Given the description of an element on the screen output the (x, y) to click on. 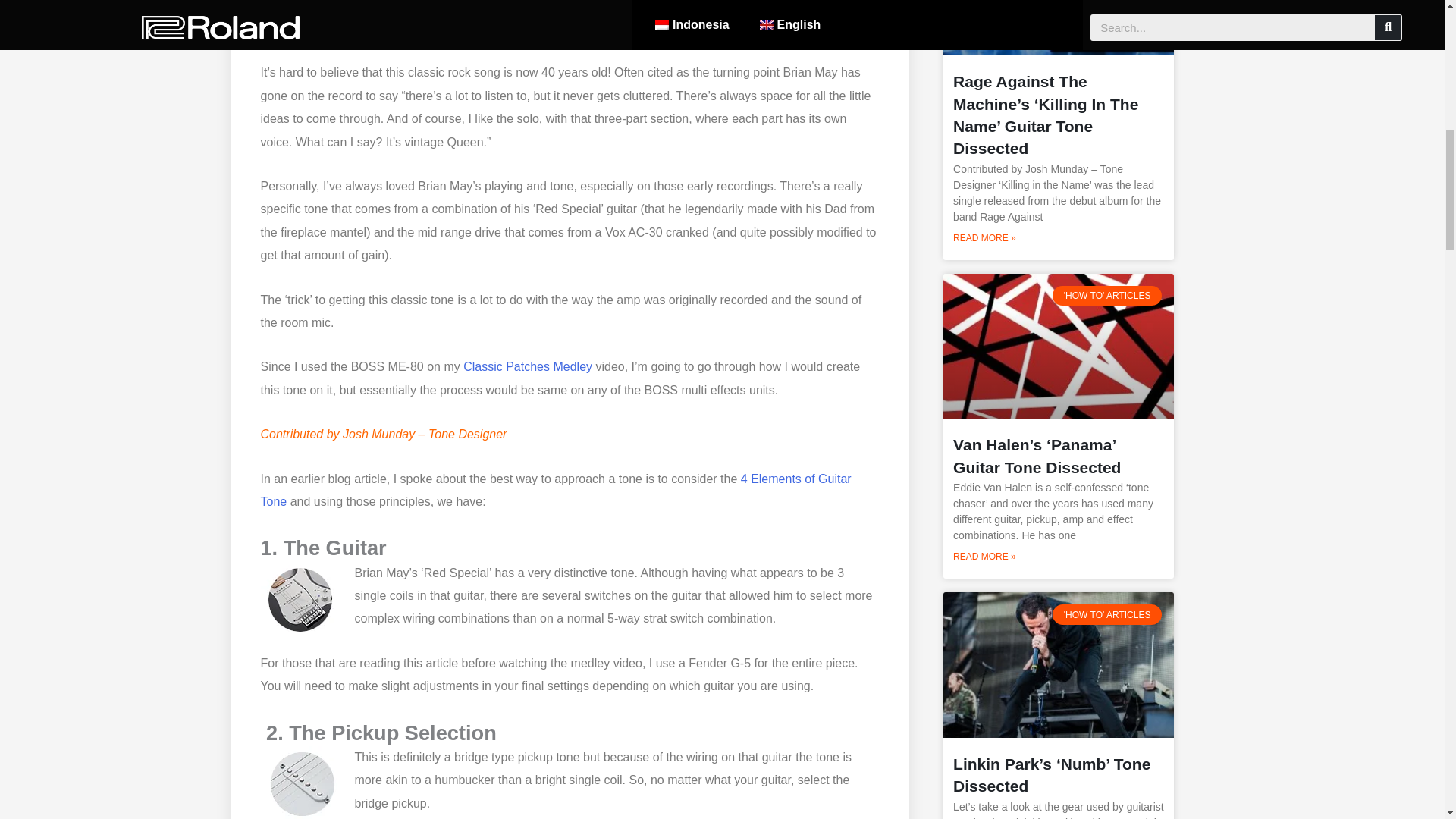
Classic Guitar Patches Medley (527, 366)
